Given the description of an element on the screen output the (x, y) to click on. 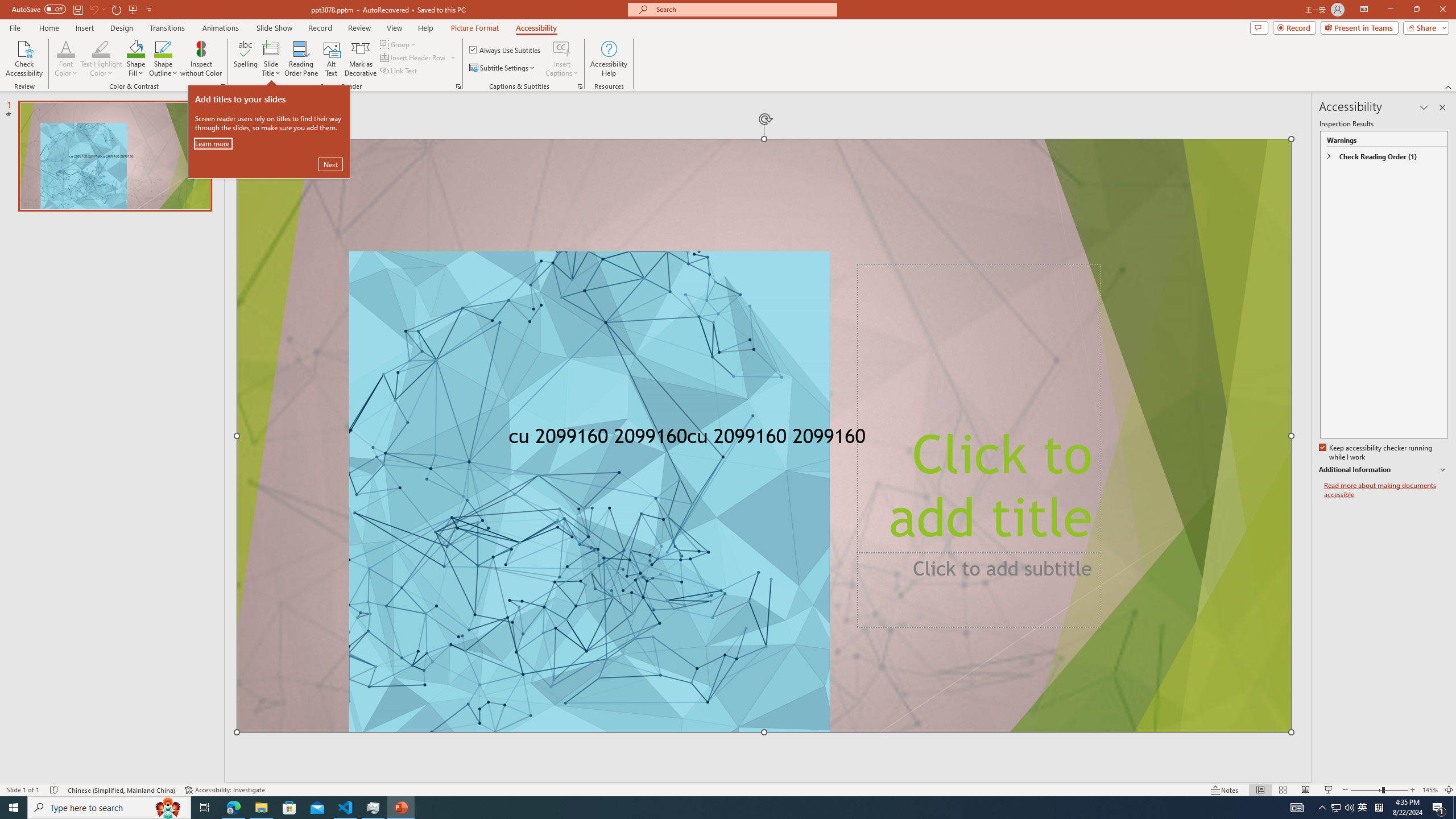
Group (398, 44)
Accessibility Help (608, 58)
Inspect without Color (201, 58)
Link Text (399, 69)
